Given the description of an element on the screen output the (x, y) to click on. 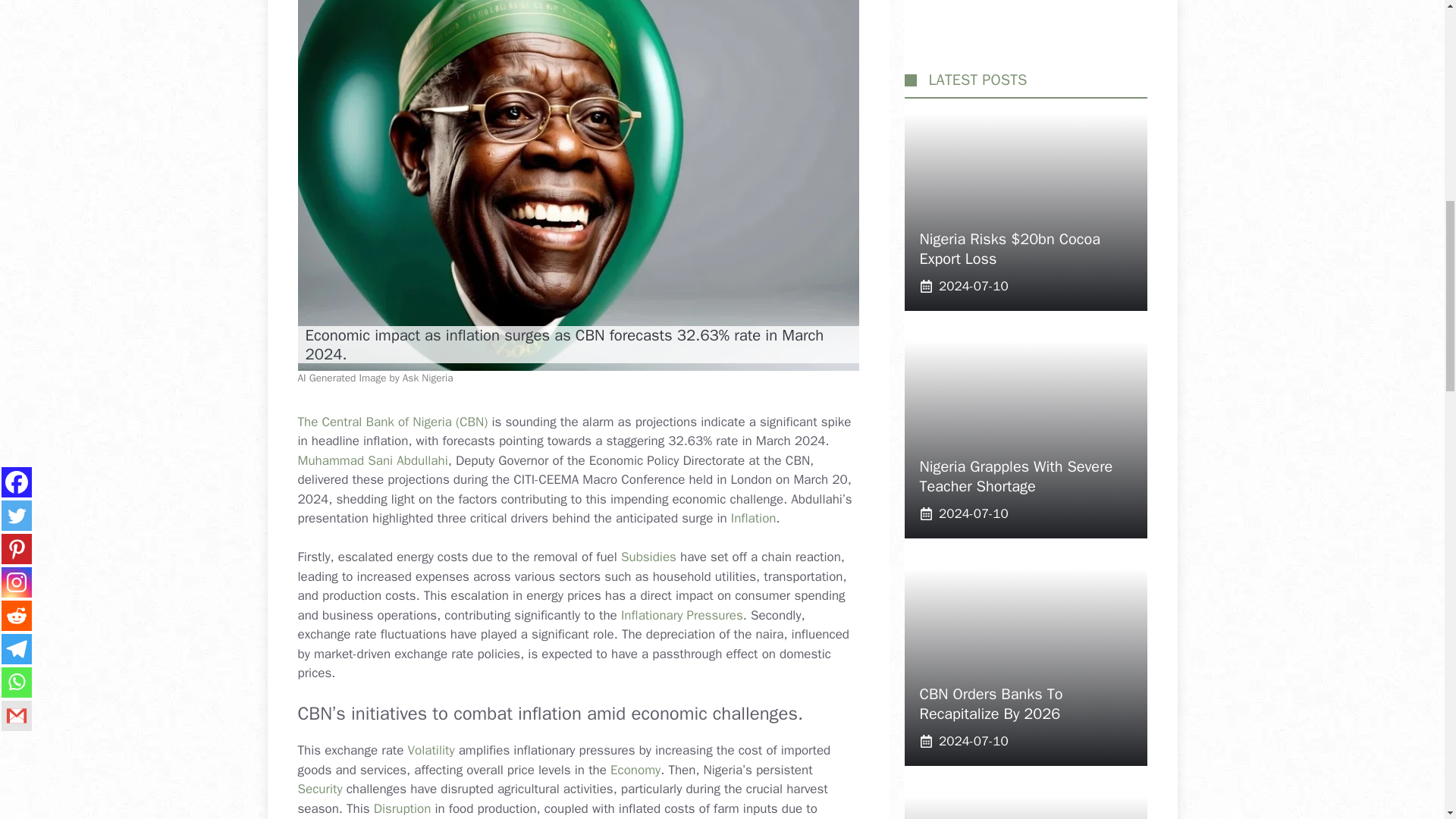
Scroll back to top (1406, 720)
